Given the description of an element on the screen output the (x, y) to click on. 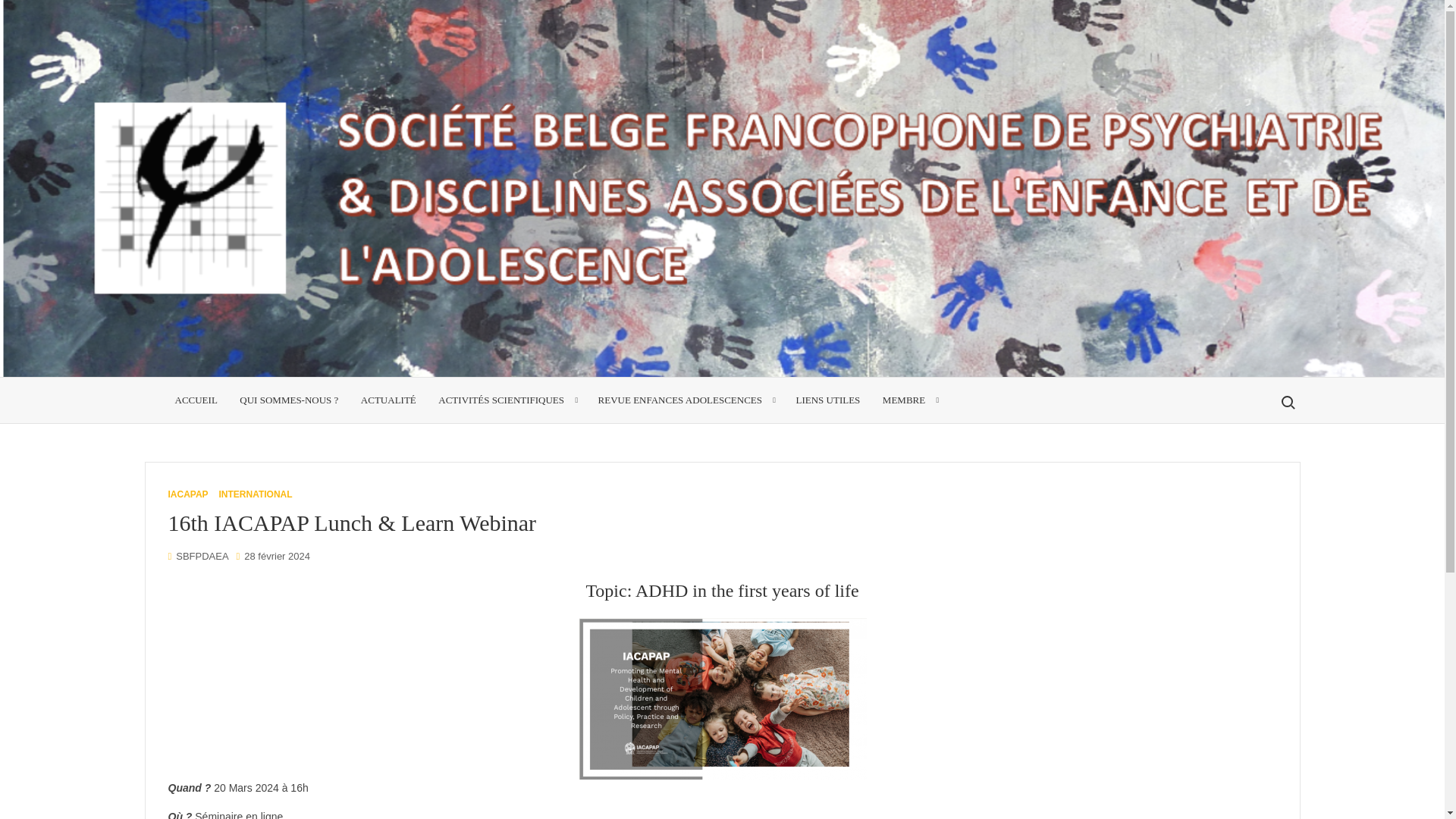
LIENS UTILES (827, 400)
ACCUEIL (195, 400)
QUI SOMMES-NOUS ? (288, 400)
MEMBRE (908, 400)
REVUE ENFANCES ADOLESCENCES (685, 400)
